Given the description of an element on the screen output the (x, y) to click on. 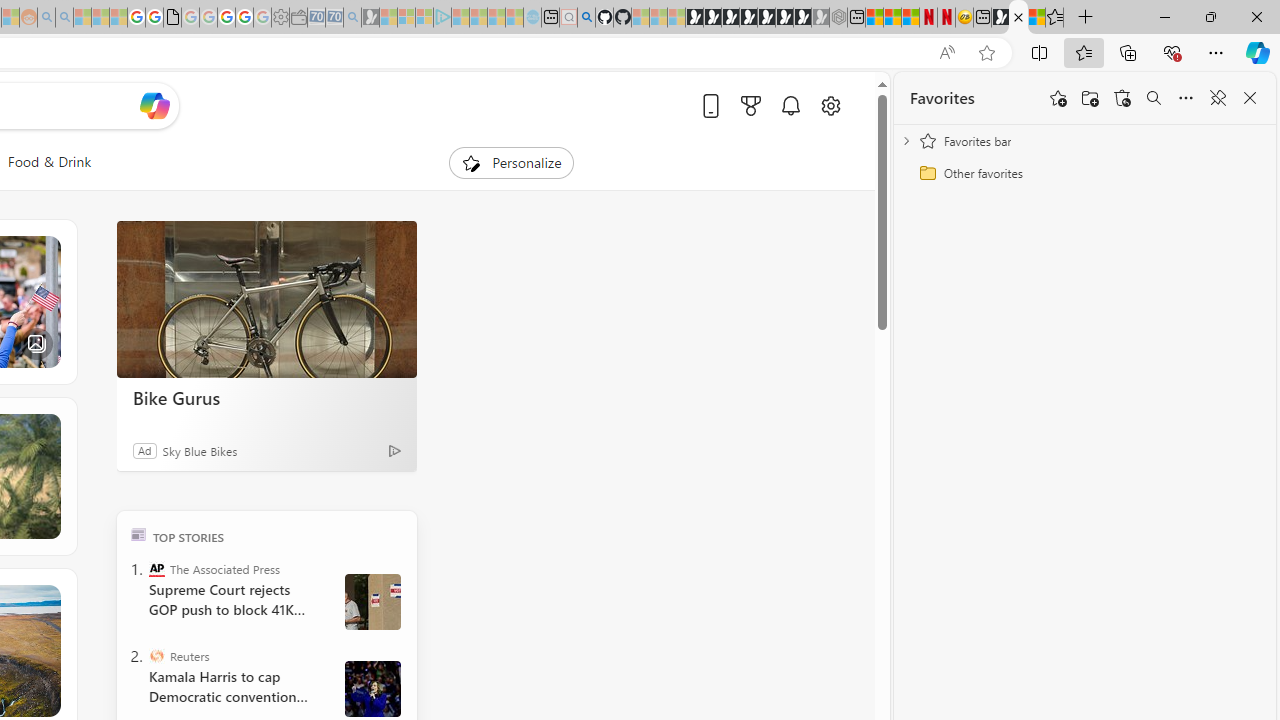
Add folder (1089, 98)
TOP (138, 534)
The Associated Press (156, 568)
